Given the description of an element on the screen output the (x, y) to click on. 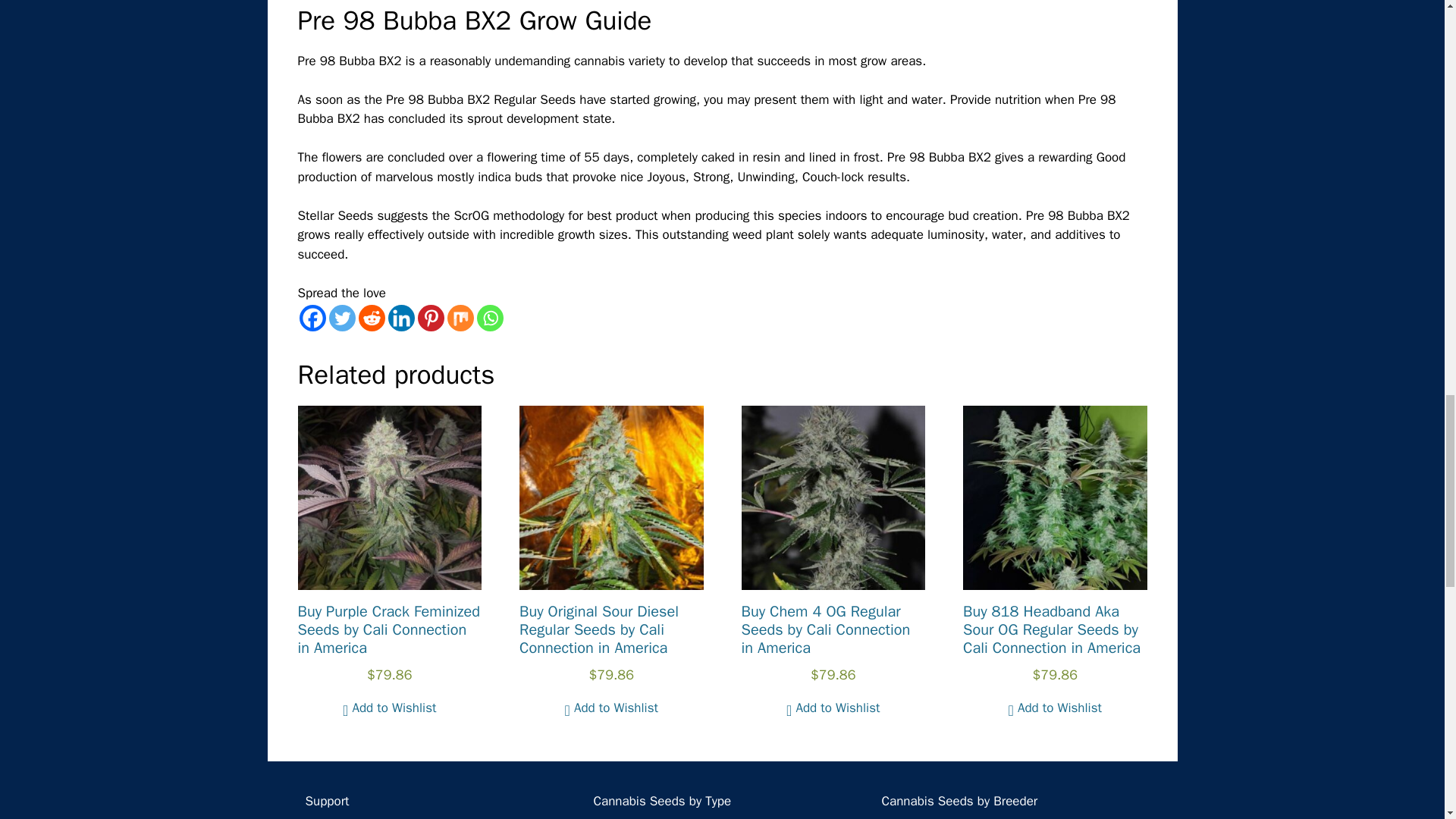
Linkedin (401, 317)
Pinterest (430, 317)
Reddit (371, 317)
Facebook (311, 317)
Twitter (342, 317)
Whatsapp (489, 317)
Mix (460, 317)
